Given the description of an element on the screen output the (x, y) to click on. 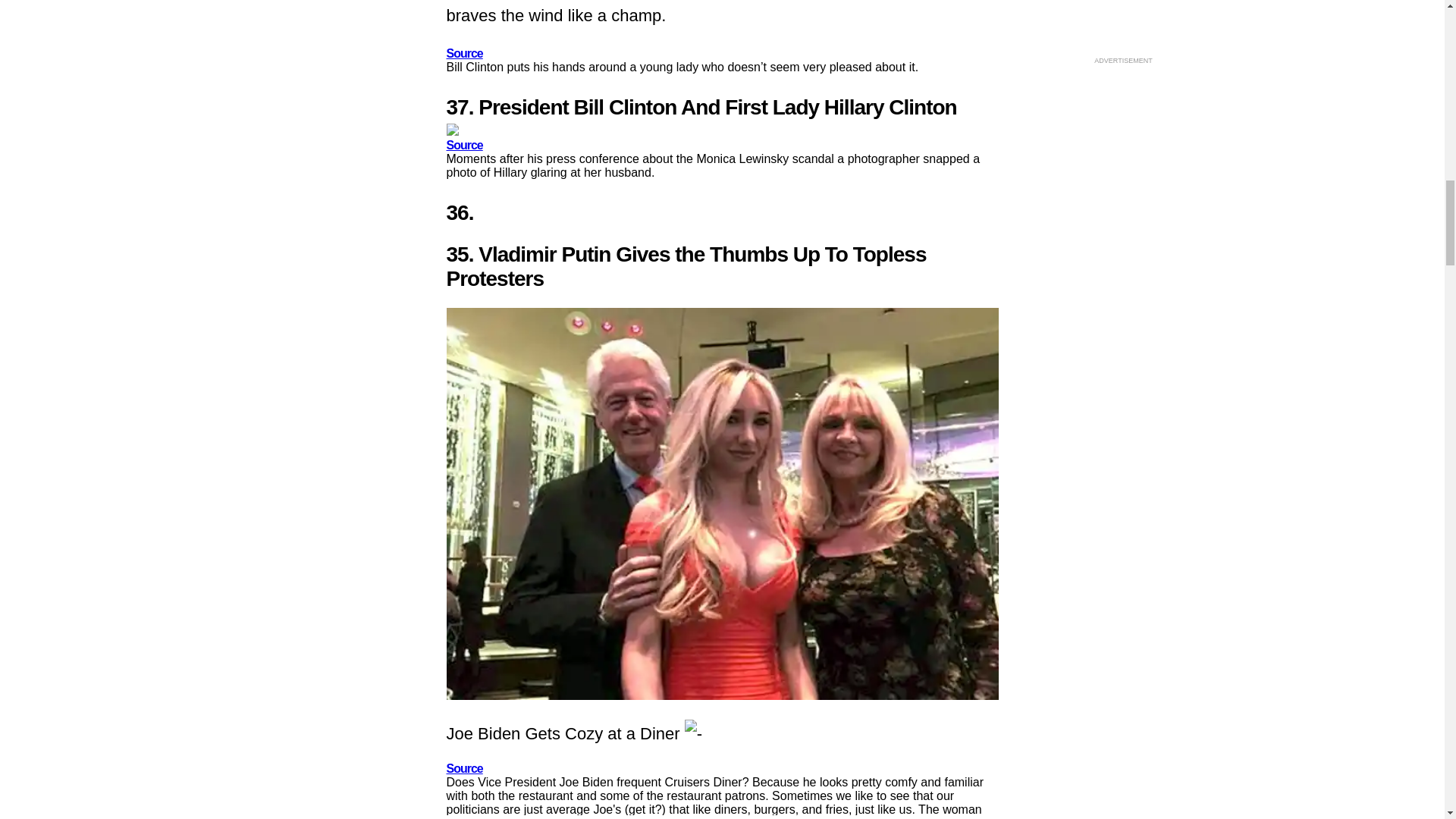
Source (463, 768)
Source (463, 52)
Source (463, 144)
